Given the description of an element on the screen output the (x, y) to click on. 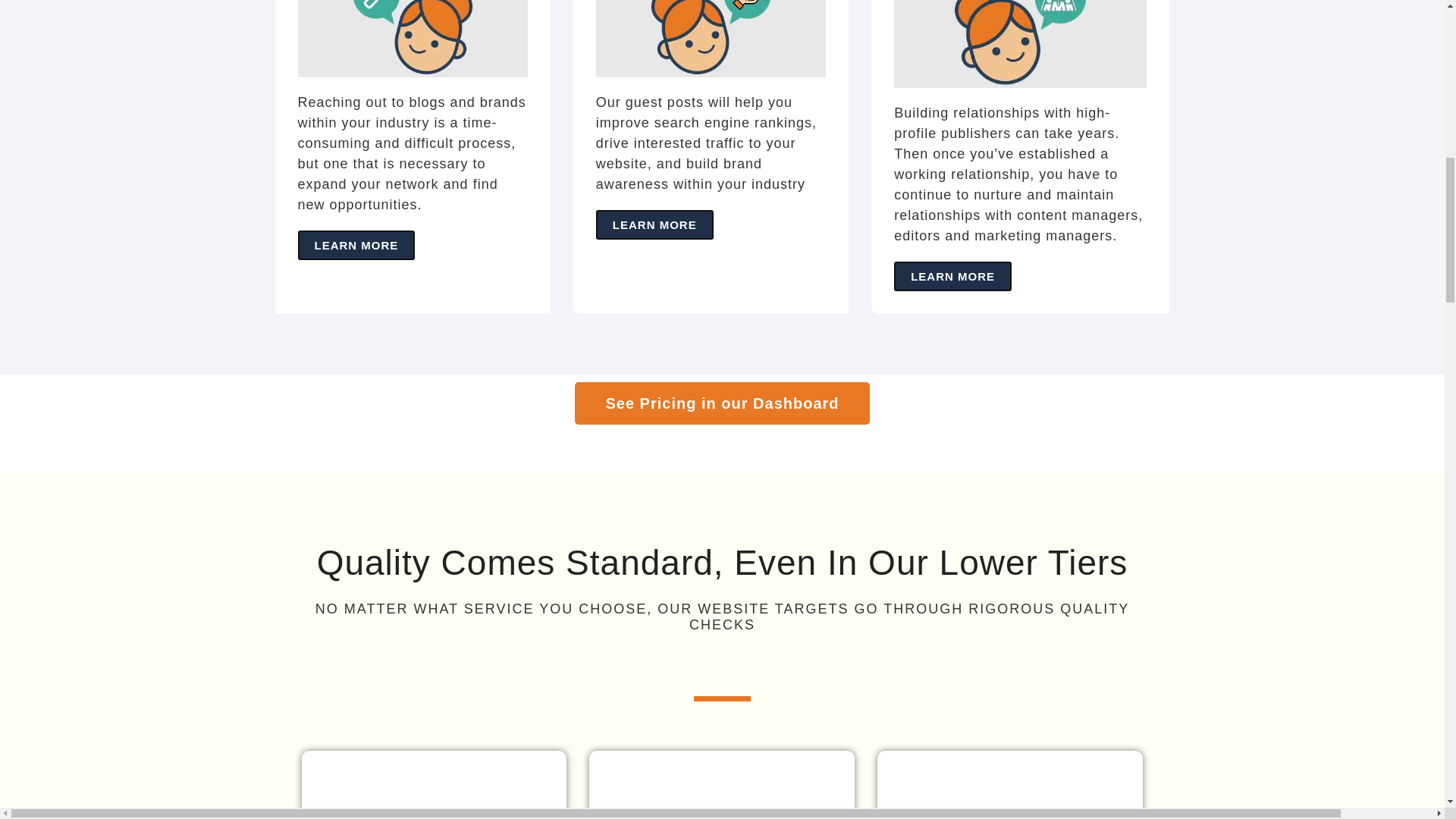
trust-icon (721, 803)
Link Building 6 (722, 452)
Link Building 4 (710, 38)
traffic-icon (1010, 803)
authority-icon (433, 803)
Link Building 3 (412, 38)
Link Building 5 (1020, 43)
